Given the description of an element on the screen output the (x, y) to click on. 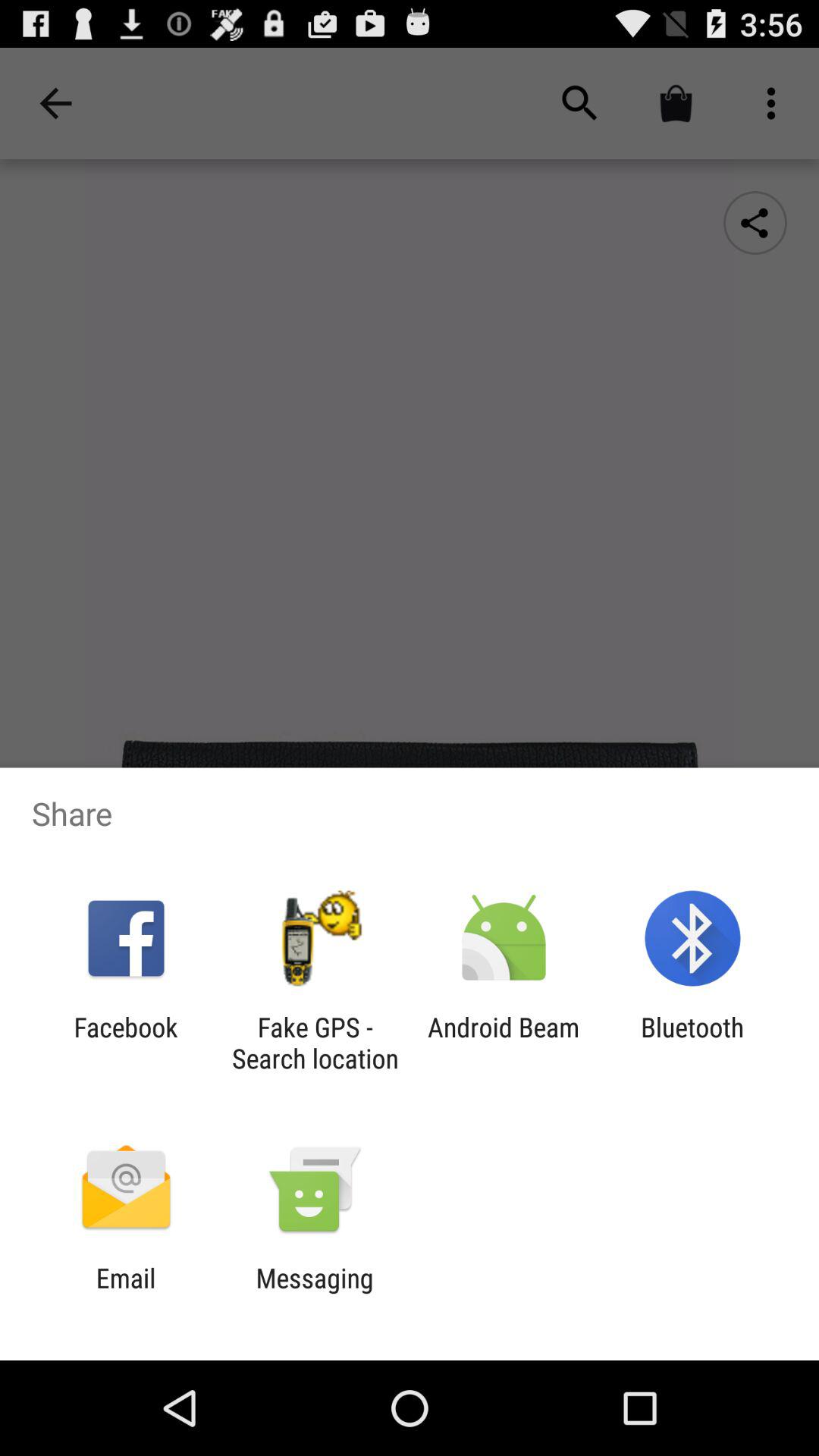
select app to the left of fake gps search app (125, 1042)
